Given the description of an element on the screen output the (x, y) to click on. 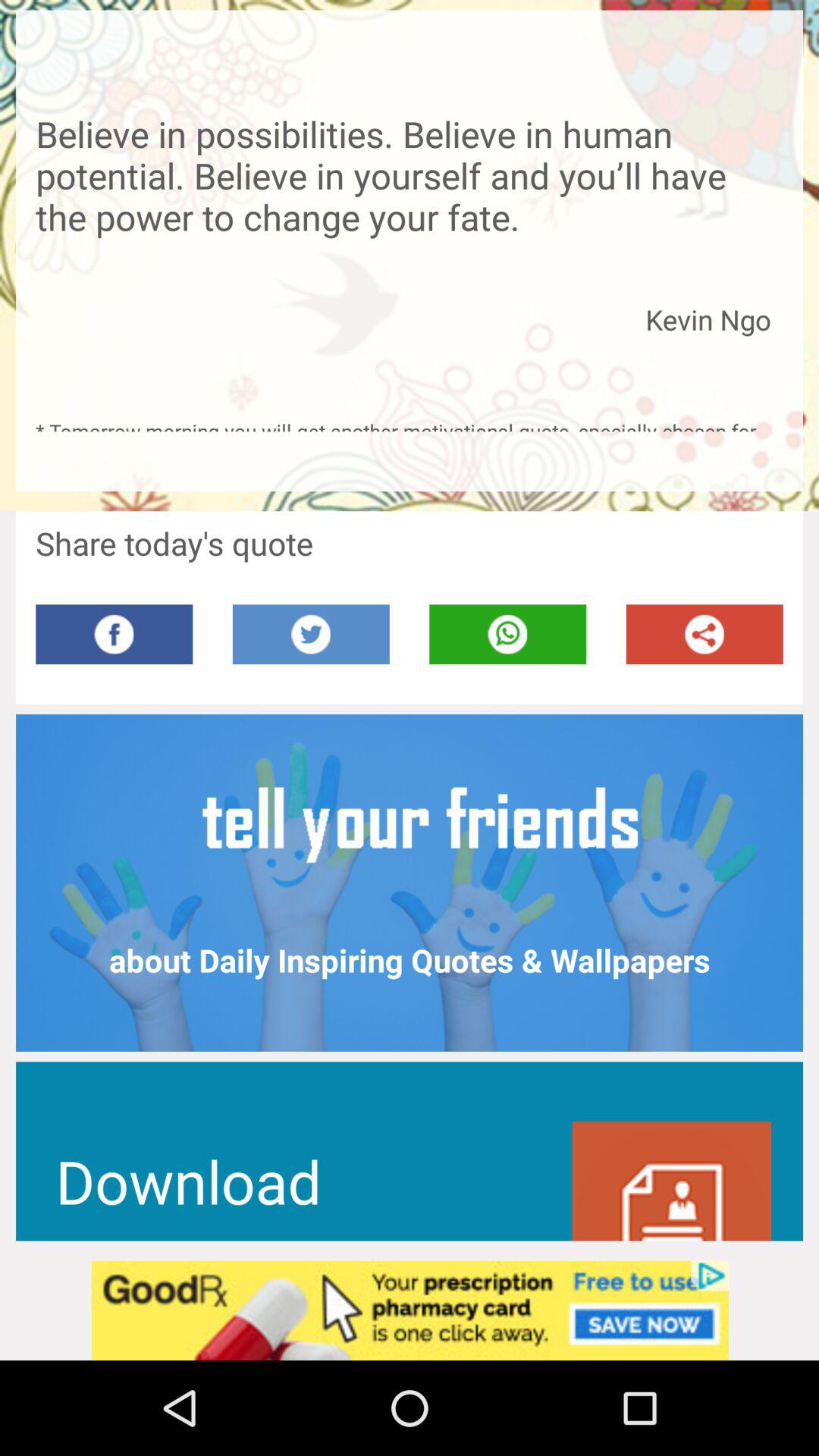
whatsapp (507, 634)
